Given the description of an element on the screen output the (x, y) to click on. 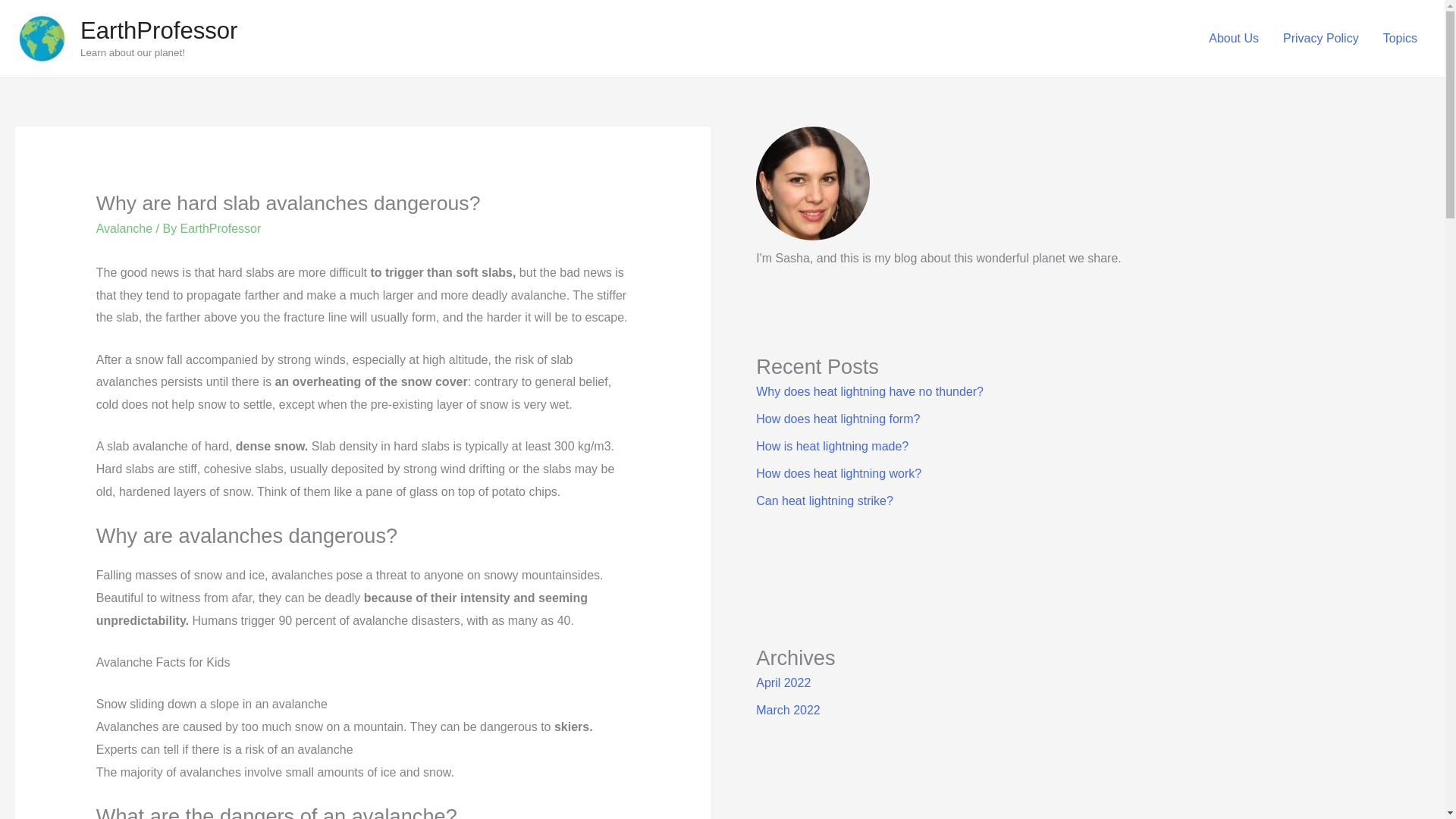
How does heat lightning work? (838, 472)
March 2022 (788, 709)
How is heat lightning made? (831, 445)
Privacy Policy (1321, 38)
View all posts by EarthProfessor (221, 228)
April 2022 (782, 682)
Avalanche (124, 228)
Why does heat lightning have no thunder? (869, 391)
About Us (1233, 38)
EarthProfessor (158, 30)
Topics (1400, 38)
EarthProfessor (221, 228)
Can heat lightning strike? (824, 500)
How does heat lightning form? (837, 418)
